Given the description of an element on the screen output the (x, y) to click on. 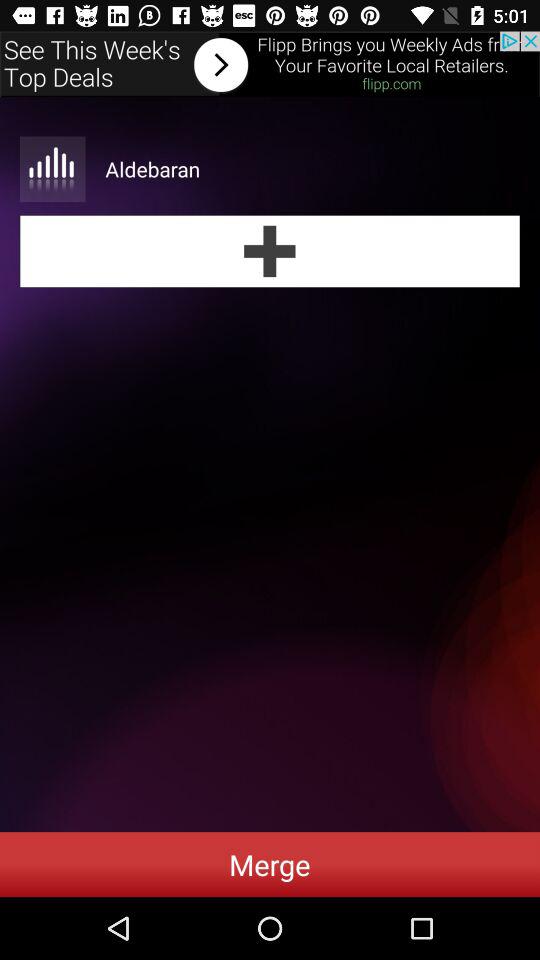
forword (270, 64)
